Given the description of an element on the screen output the (x, y) to click on. 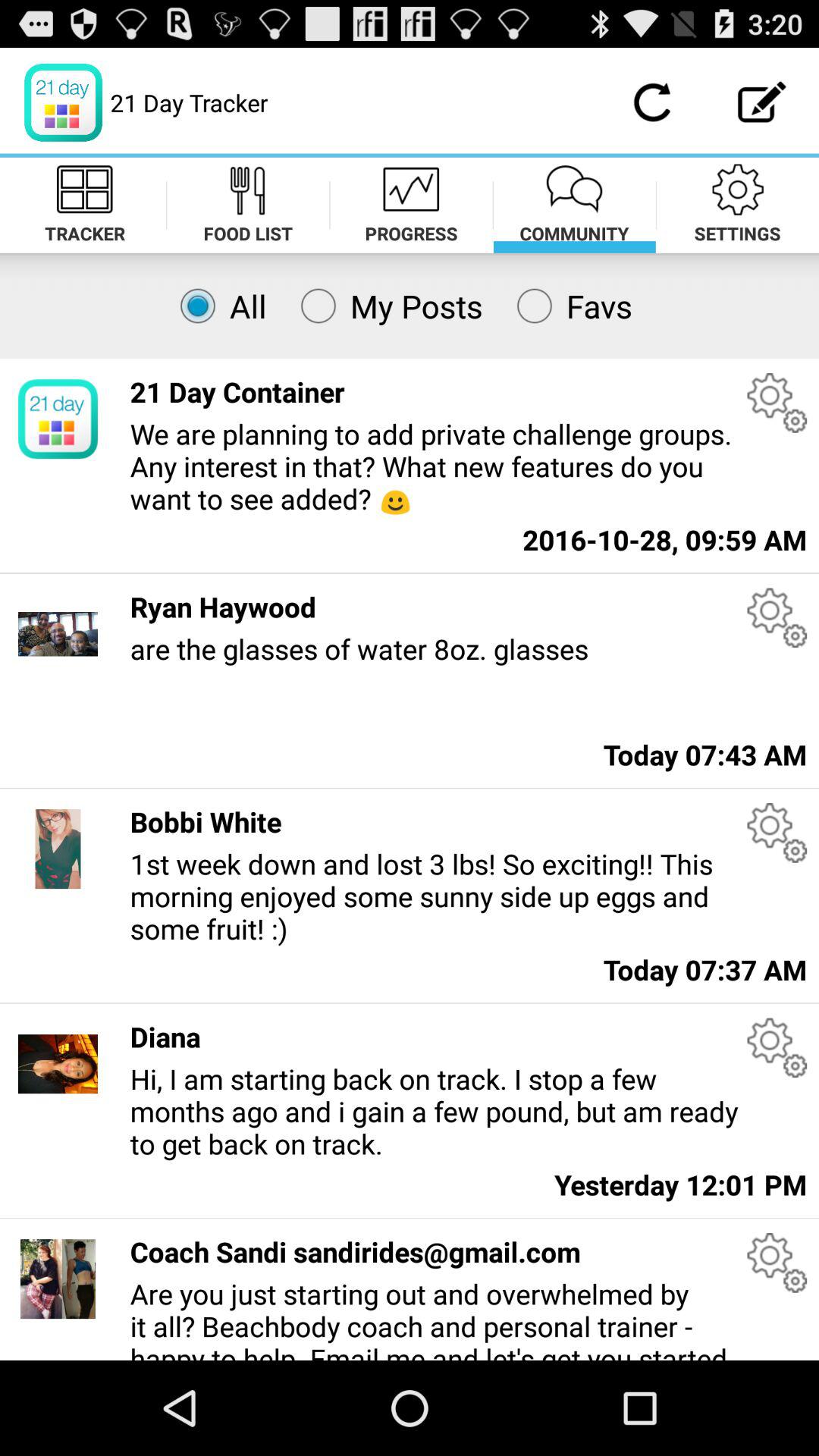
options (777, 1262)
